Given the description of an element on the screen output the (x, y) to click on. 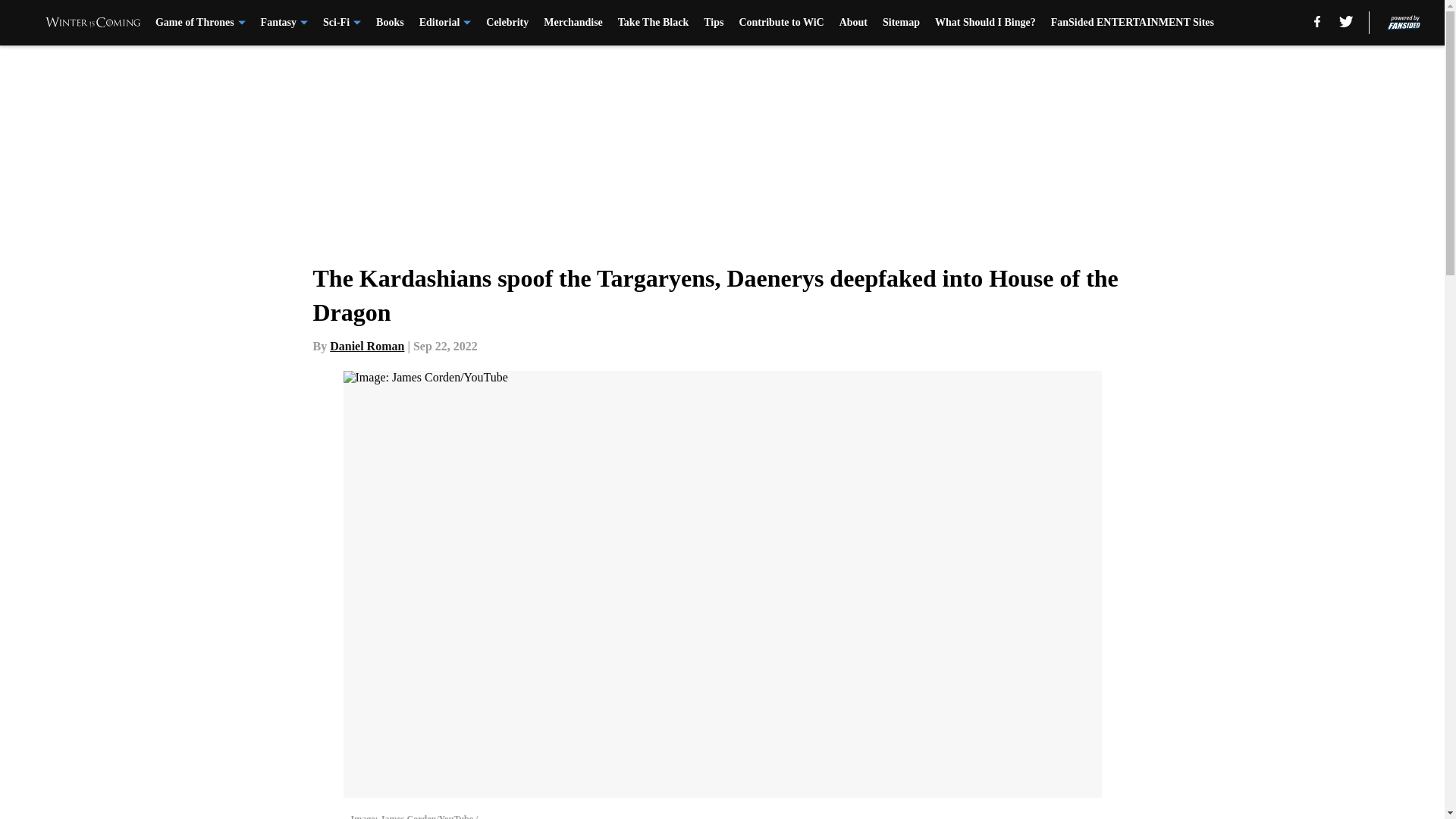
Game of Thrones (200, 22)
Editorial (445, 22)
Celebrity (507, 22)
Books (389, 22)
Sci-Fi (342, 22)
Fantasy (283, 22)
